Given the description of an element on the screen output the (x, y) to click on. 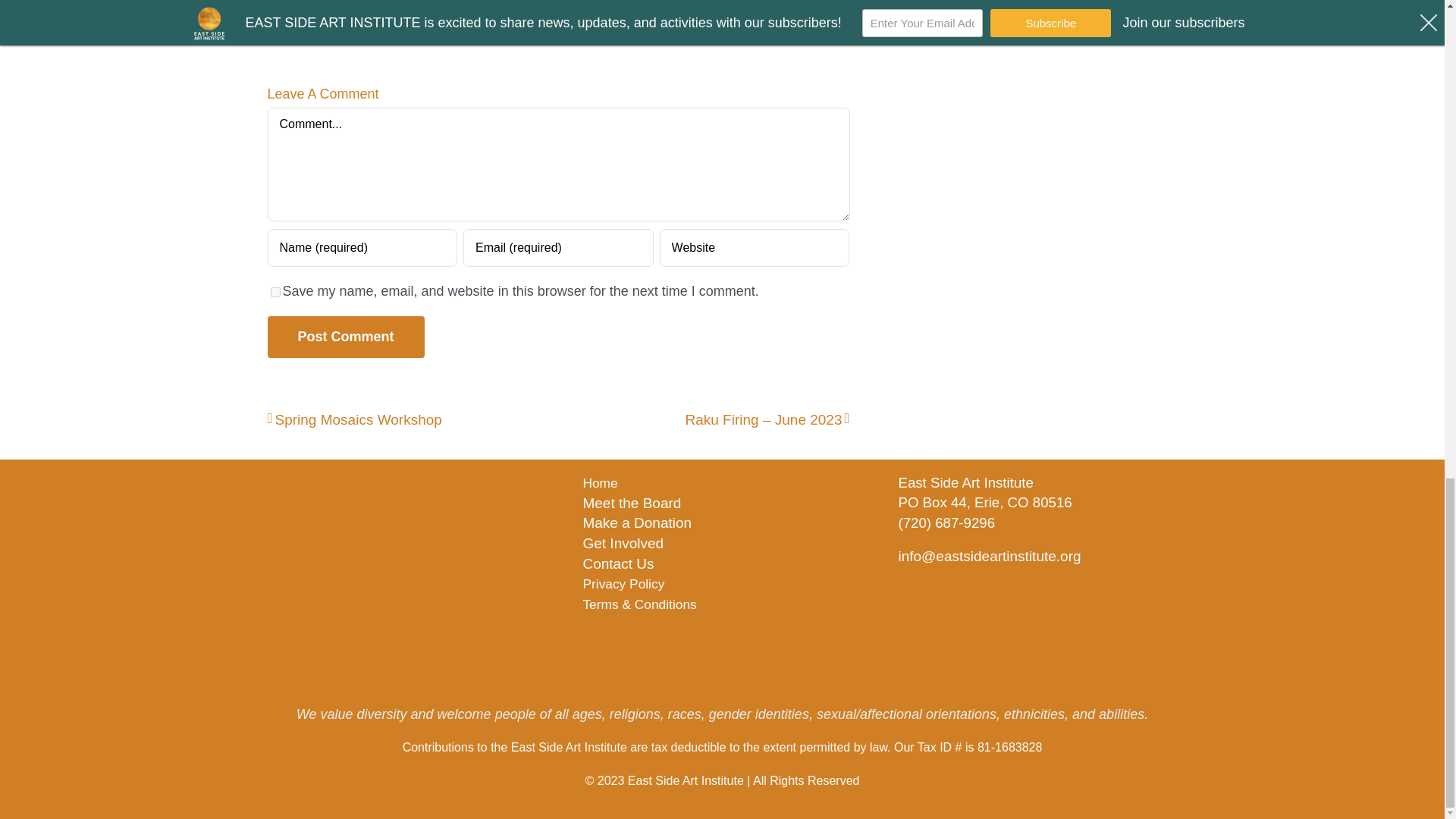
yes (274, 292)
Post Comment (344, 336)
